Given the description of an element on the screen output the (x, y) to click on. 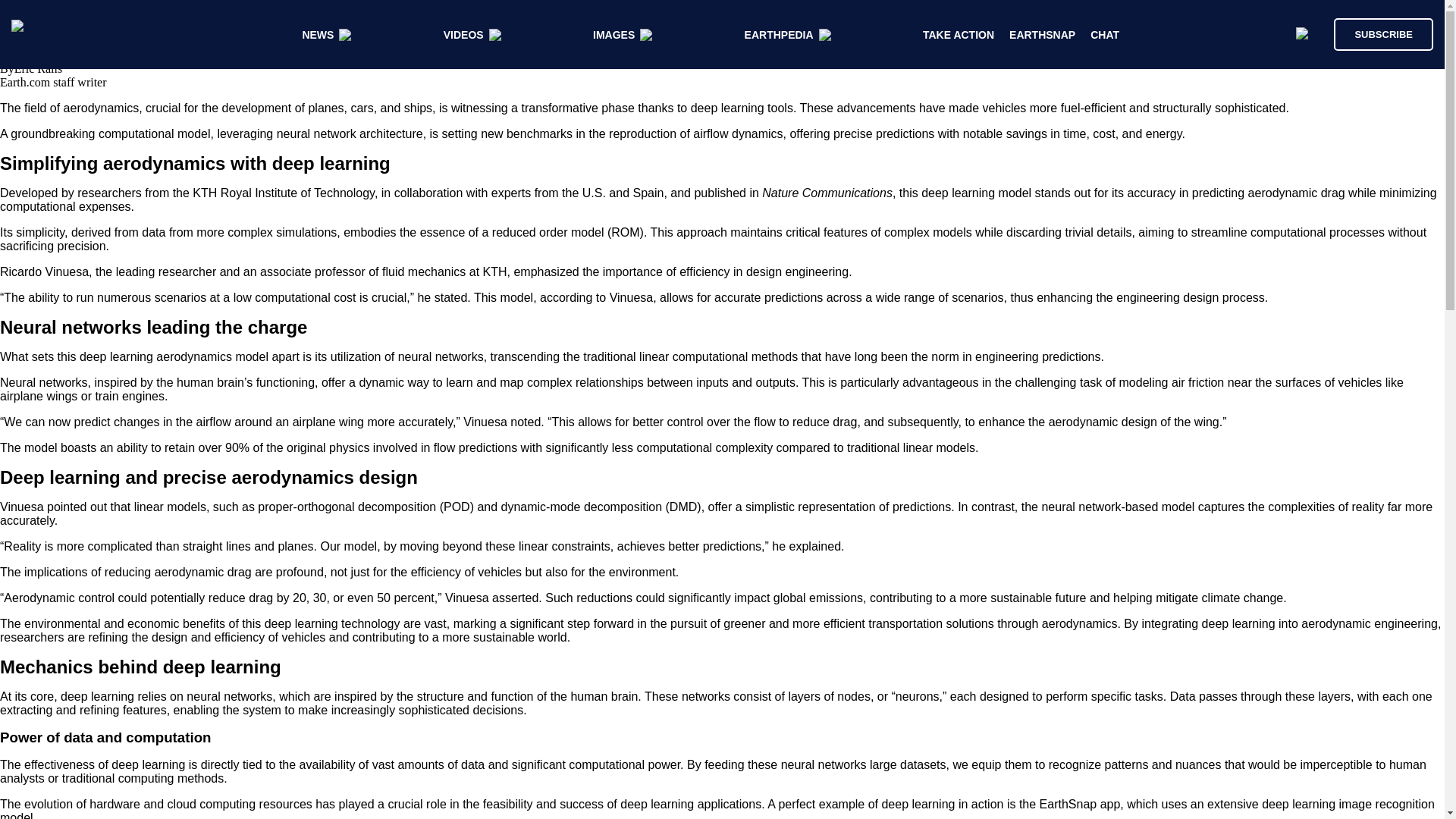
large datasets (907, 764)
EarthSnap app (1080, 803)
technology (369, 623)
Eric Ralls (38, 68)
model (250, 356)
KTH Royal Institute of Technology (283, 192)
SUBSCRIBE (1382, 34)
tools (780, 107)
CHAT (1104, 34)
SUBSCRIBE (1375, 33)
